Given the description of an element on the screen output the (x, y) to click on. 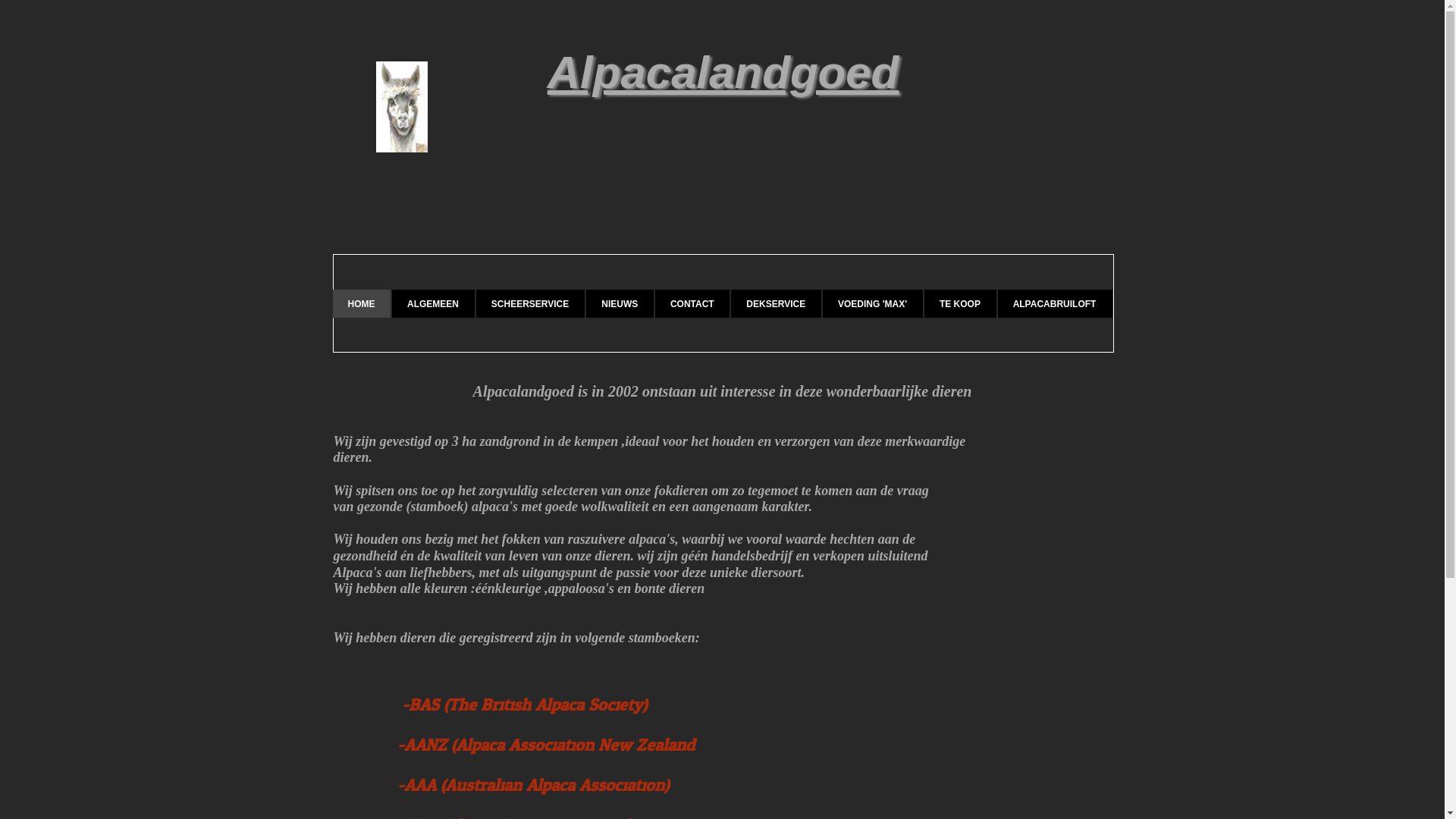
VOEDING 'MAX' Element type: text (872, 303)
DEKSERVICE Element type: text (776, 303)
SCHEERSERVICE Element type: text (530, 303)
HOME Element type: text (361, 303)
ALGEMEEN Element type: text (433, 303)
TE KOOP Element type: text (960, 303)
NIEUWS Element type: text (619, 303)
ALPACABRUILOFT Element type: text (1054, 303)
CONTACT Element type: text (692, 303)
